Given the description of an element on the screen output the (x, y) to click on. 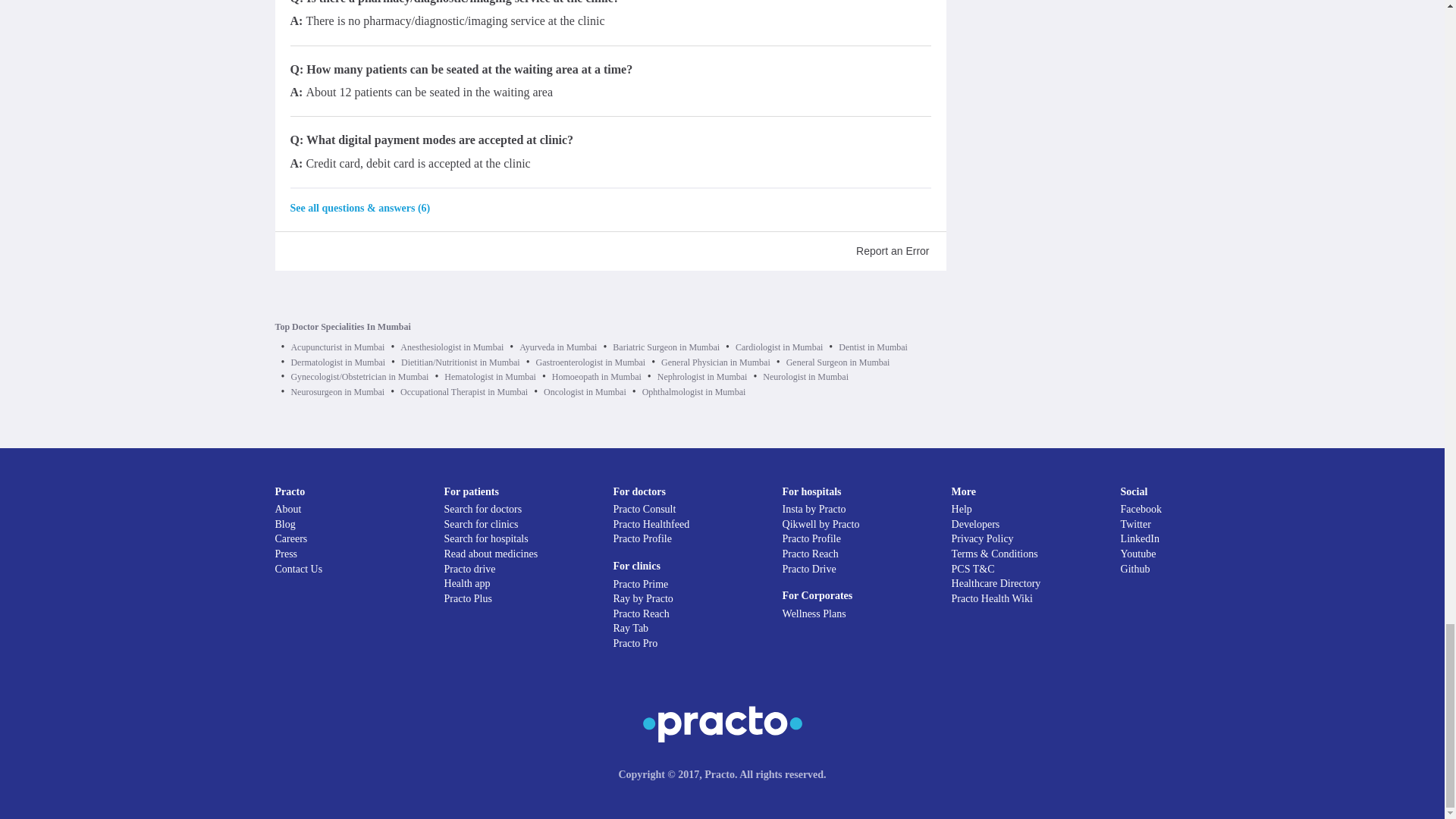
Report an Error (892, 250)
